Given the description of an element on the screen output the (x, y) to click on. 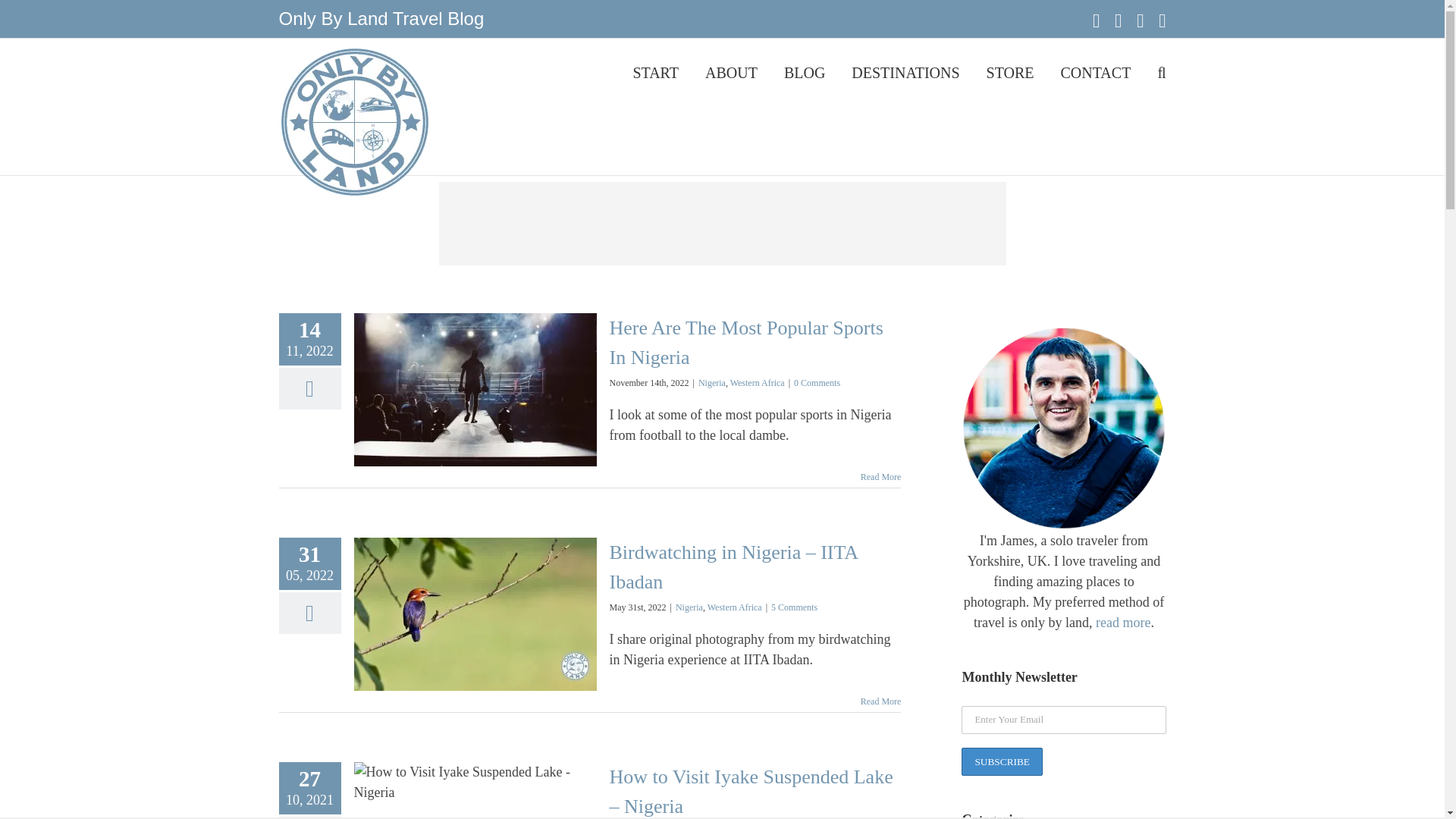
Western Africa (757, 382)
Nigeria (689, 606)
CONTACT (1096, 71)
DESTINATIONS (905, 71)
SUBSCRIBE (1001, 761)
Read More (880, 476)
0 Comments (816, 382)
Nigeria (711, 382)
Here Are The Most Popular Sports In Nigeria (746, 342)
